Given the description of an element on the screen output the (x, y) to click on. 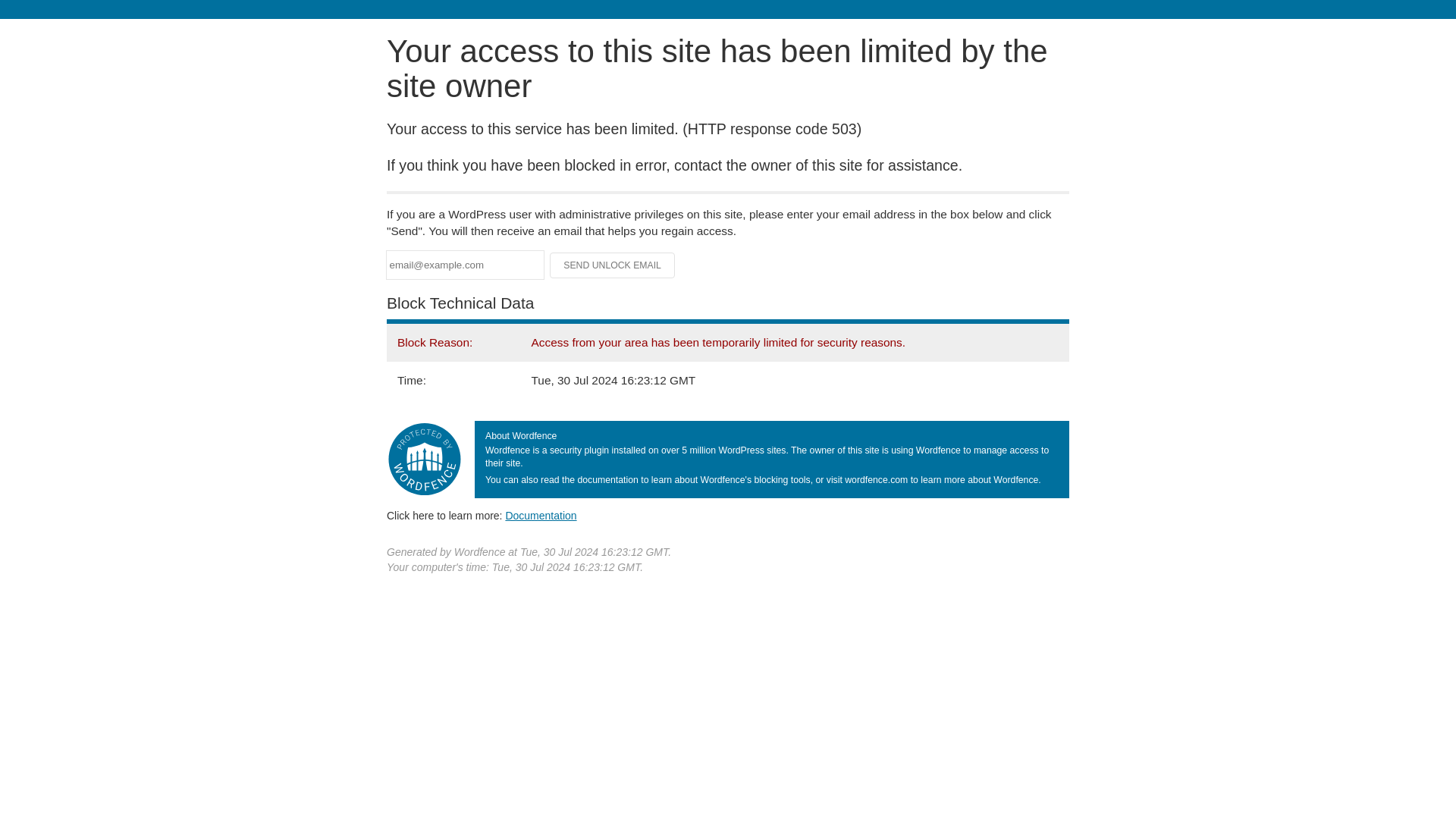
Send Unlock Email (612, 265)
Send Unlock Email (612, 265)
Documentation (540, 515)
